Given the description of an element on the screen output the (x, y) to click on. 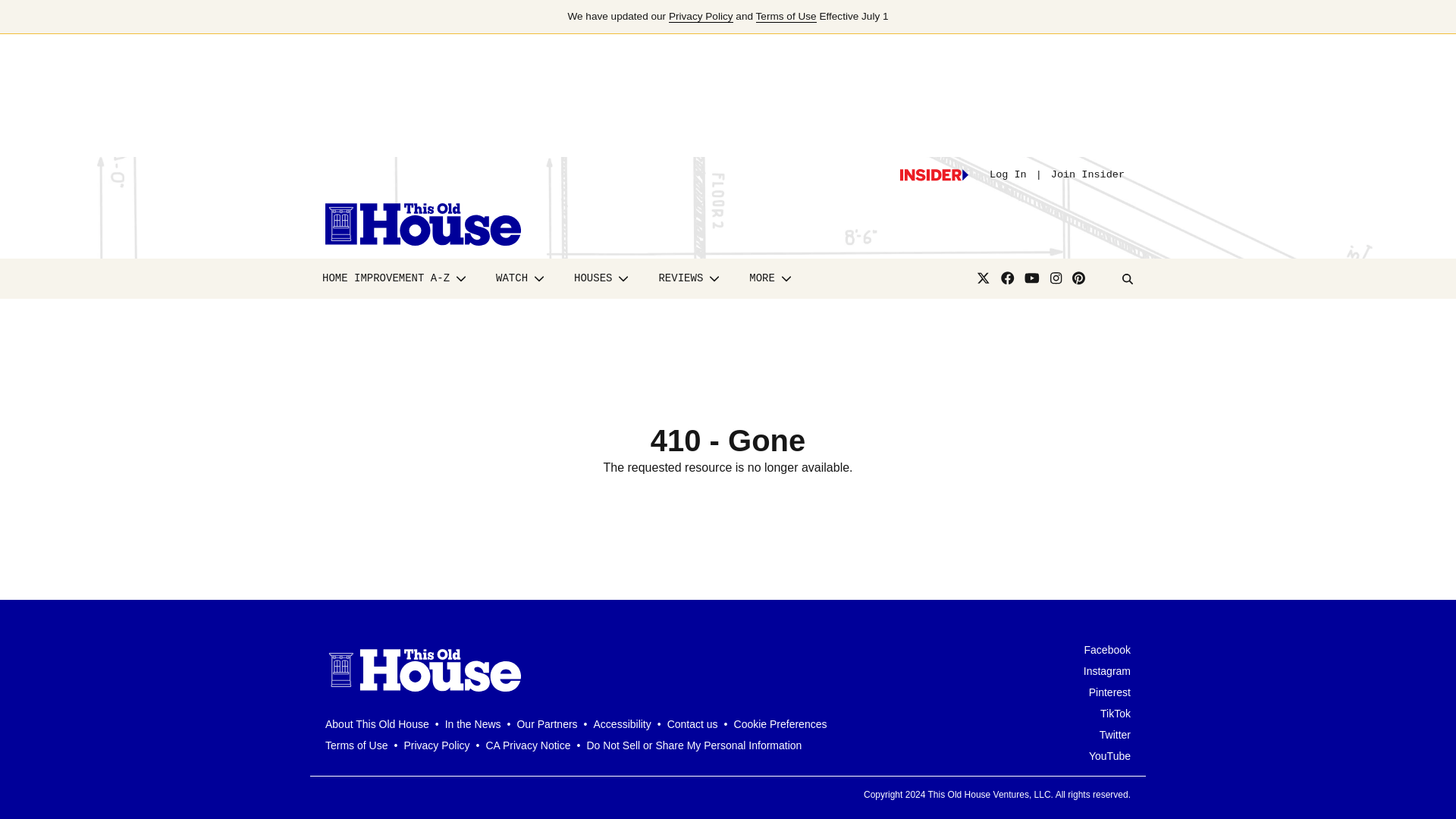
Privacy Policy (700, 16)
Log In (1008, 174)
Terms of Use (785, 16)
Log in or sign up (933, 174)
Join Insider (1087, 174)
